Given the description of an element on the screen output the (x, y) to click on. 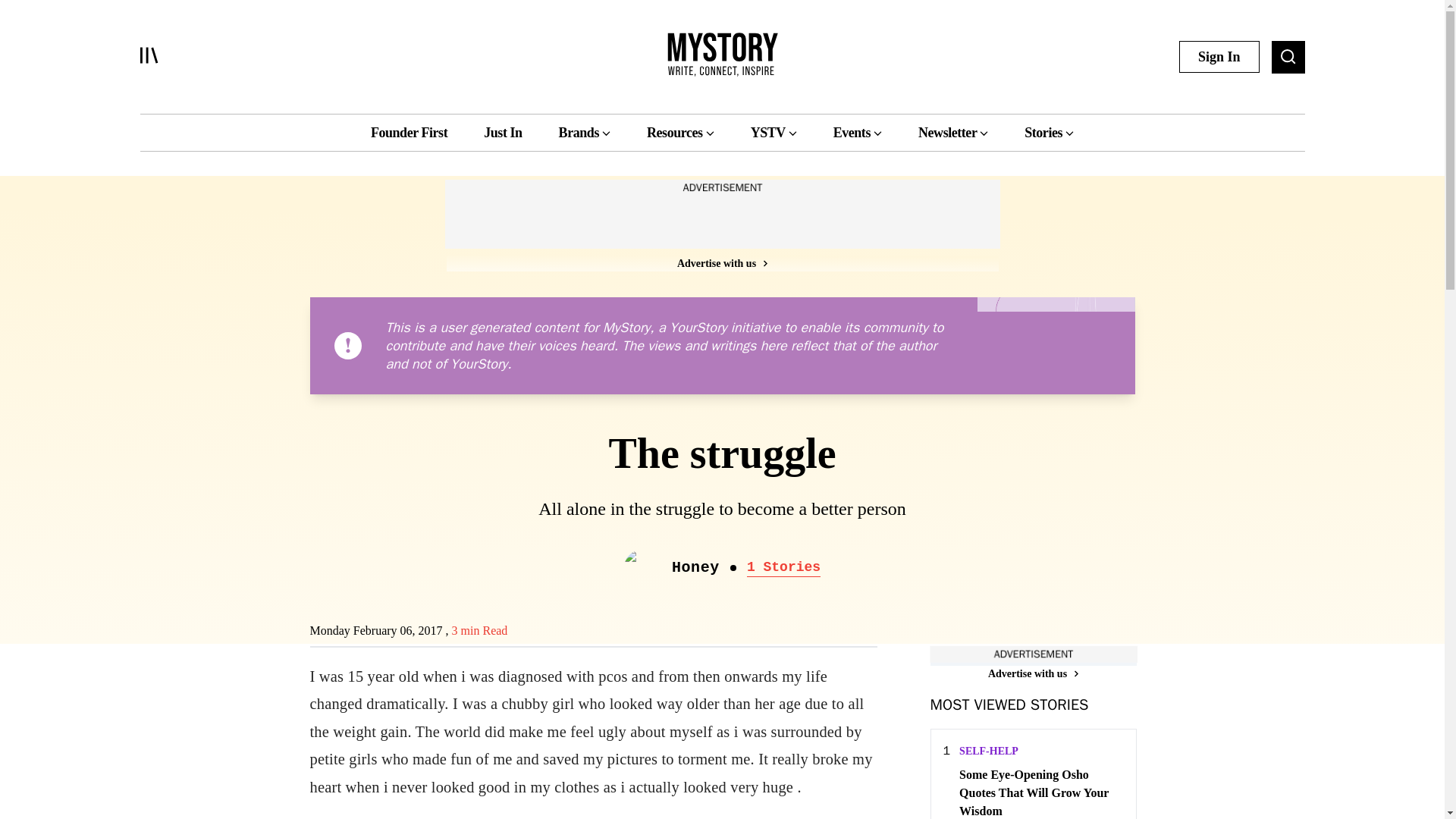
Some Eye-Opening Osho Quotes That Will Grow Your Wisdom (1040, 792)
Advertise with us (721, 263)
1 Stories (783, 566)
SELF-HELP (988, 750)
Founder First (408, 132)
Honey (695, 566)
Just In (502, 132)
Advertise with us (1032, 673)
